Given the description of an element on the screen output the (x, y) to click on. 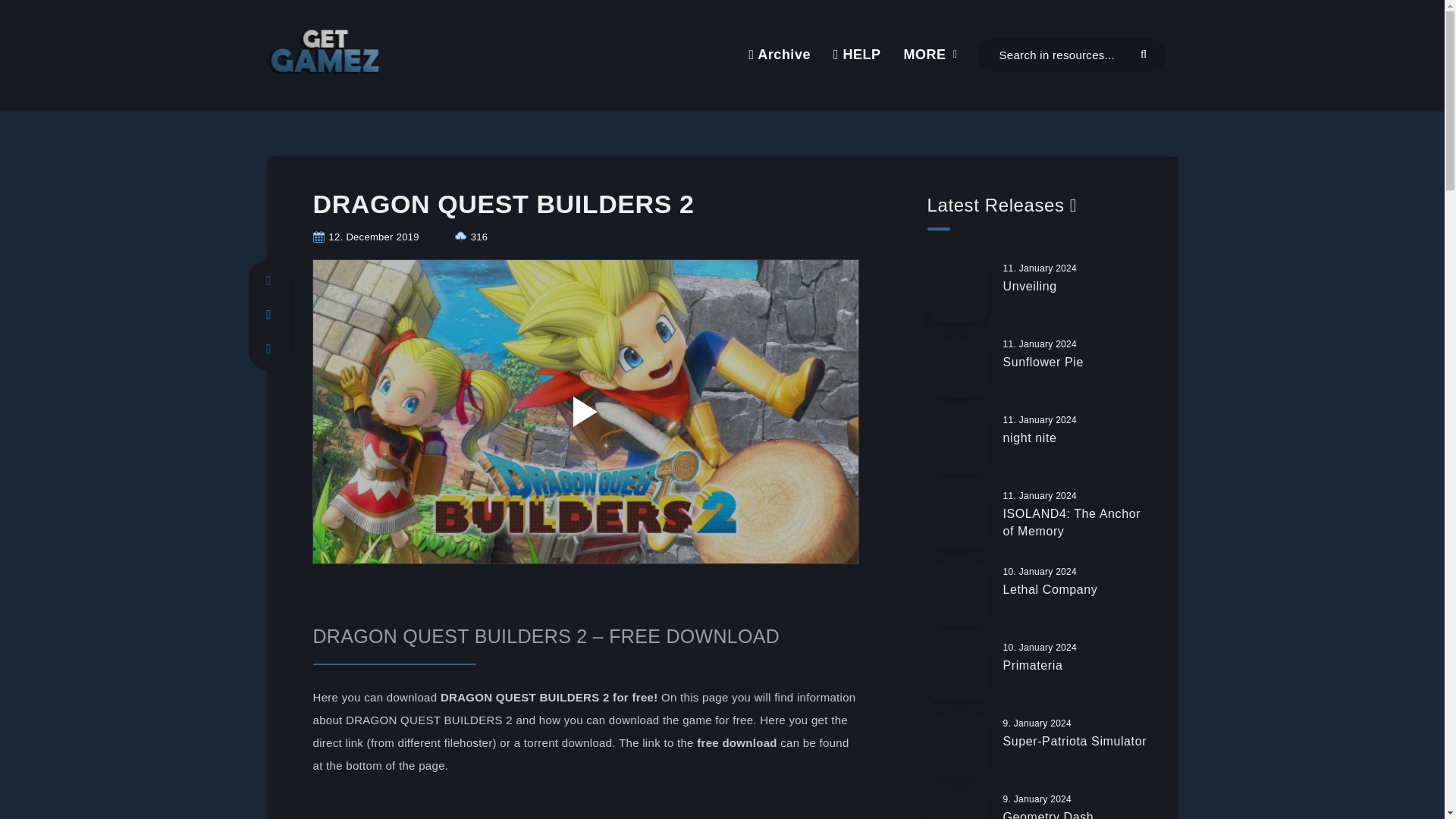
Primateria (1032, 667)
Sunflower Pie (1043, 363)
night nite (1030, 439)
Super-Patriota Simulator (1075, 742)
MORE (925, 54)
Lethal Company (1050, 591)
Archive (778, 54)
Archive (778, 54)
Geometry Dash (1048, 814)
Downloads (470, 236)
